Given the description of an element on the screen output the (x, y) to click on. 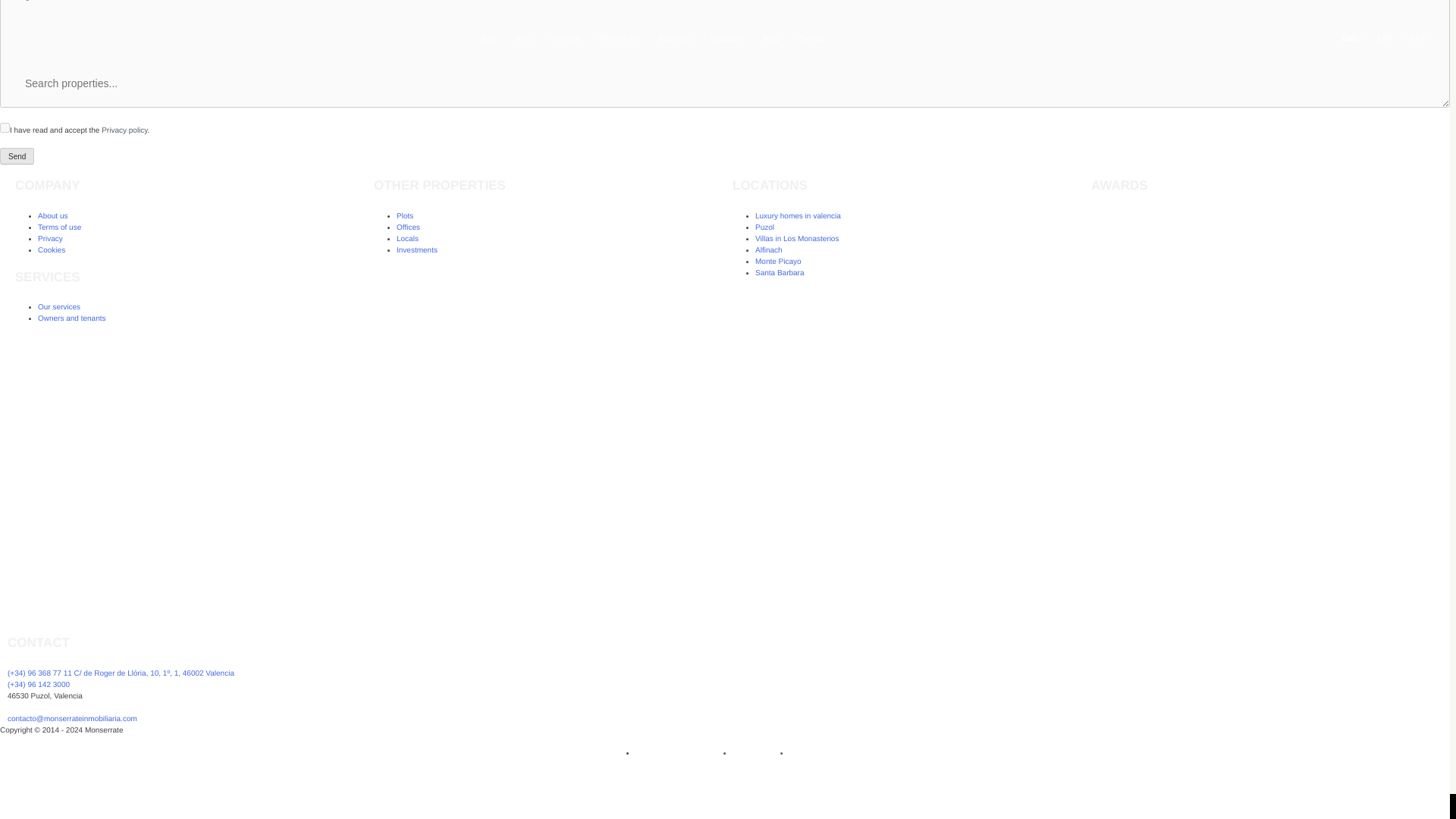
1 (5, 127)
Send (16, 156)
Privacy policy (124, 130)
Send (16, 156)
